Given the description of an element on the screen output the (x, y) to click on. 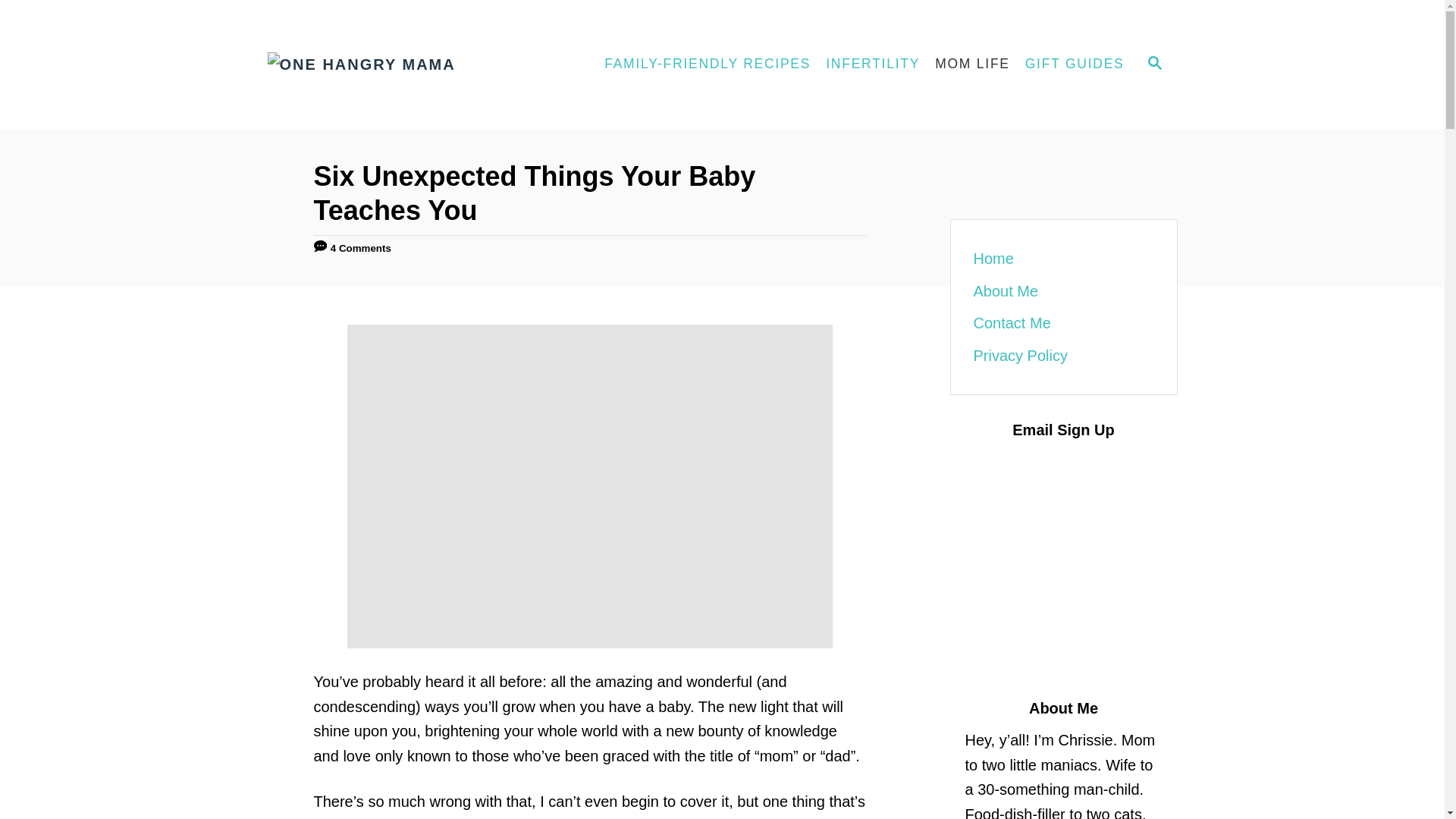
SEARCH (1153, 63)
MOM LIFE (972, 64)
One Hangry Mama (403, 64)
GIFT GUIDES (1074, 64)
FAMILY-FRIENDLY RECIPES (707, 64)
INFERTILITY (872, 64)
